Given the description of an element on the screen output the (x, y) to click on. 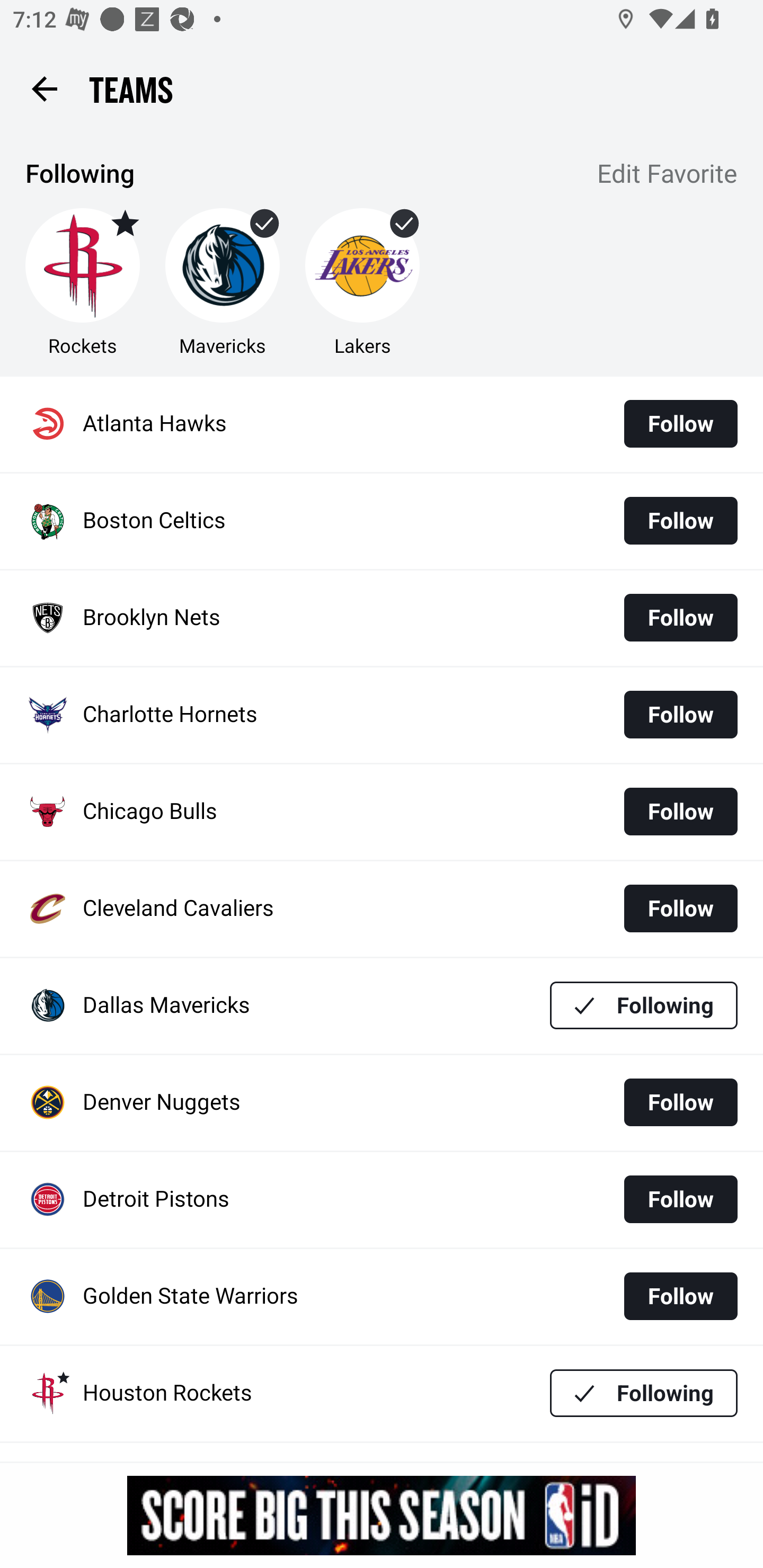
Back button (44, 88)
Edit Favorite (667, 175)
Atlanta Hawks Follow (381, 423)
Follow (680, 423)
Boston Celtics Follow (381, 521)
Follow (680, 520)
Brooklyn Nets Follow (381, 618)
Follow (680, 617)
Charlotte Hornets Follow (381, 714)
Follow (680, 713)
Chicago Bulls Follow (381, 812)
Follow (680, 811)
Cleveland Cavaliers Follow (381, 908)
Follow (680, 908)
Dallas Mavericks Following (381, 1005)
Following (643, 1005)
Denver Nuggets Follow (381, 1102)
Follow (680, 1101)
Detroit Pistons Follow (381, 1200)
Follow (680, 1199)
Golden State Warriors Follow (381, 1296)
Follow (680, 1295)
Houston Rockets Following (381, 1392)
Following (643, 1392)
g5nqqygr7owph (381, 1515)
